Given the description of an element on the screen output the (x, y) to click on. 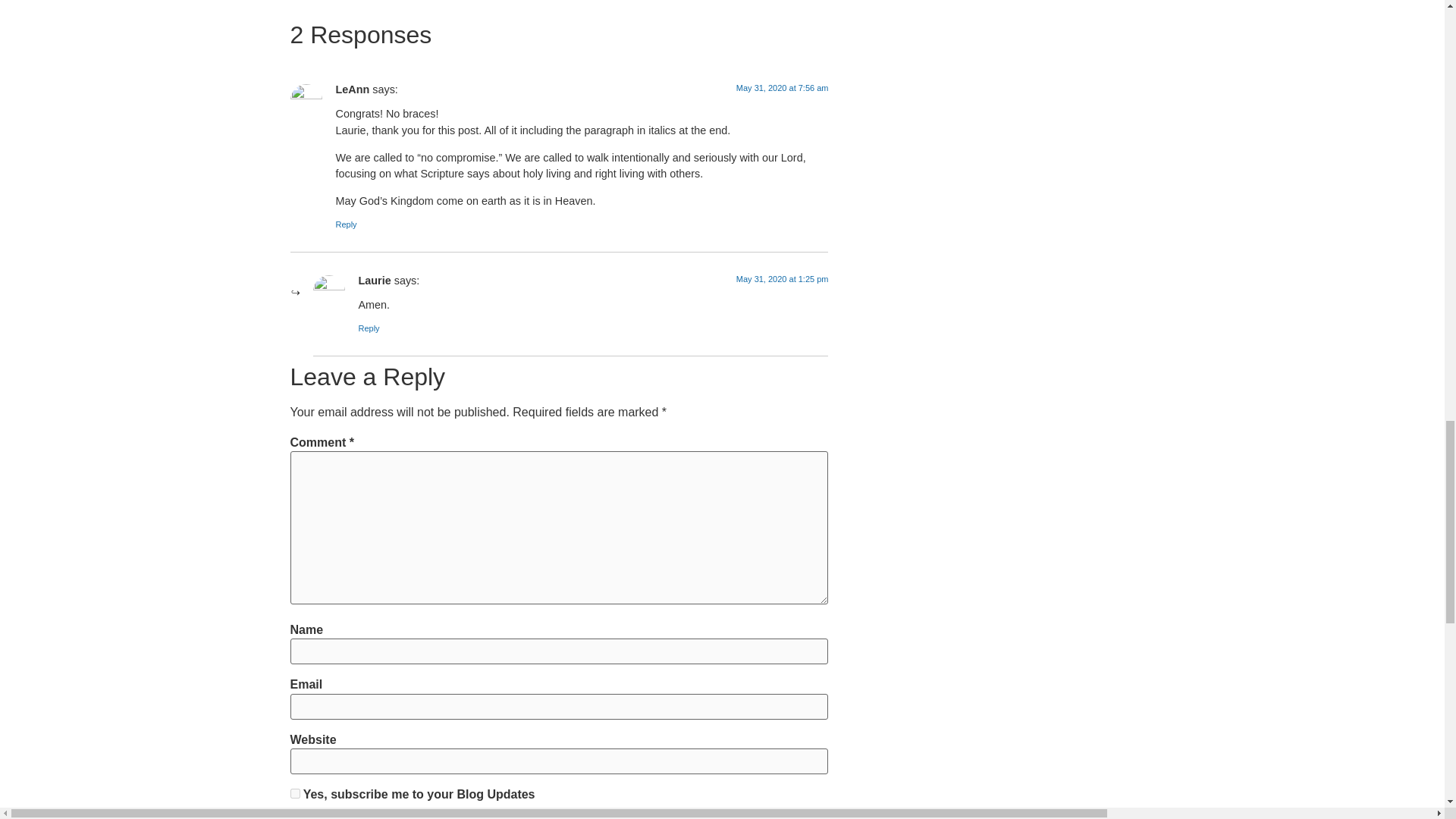
Post Comment (349, 816)
Post Comment (349, 816)
May 31, 2020 at 1:25 pm (782, 278)
Reply (368, 327)
1 (294, 793)
May 31, 2020 at 7:56 am (782, 87)
Reply (345, 224)
